Given the description of an element on the screen output the (x, y) to click on. 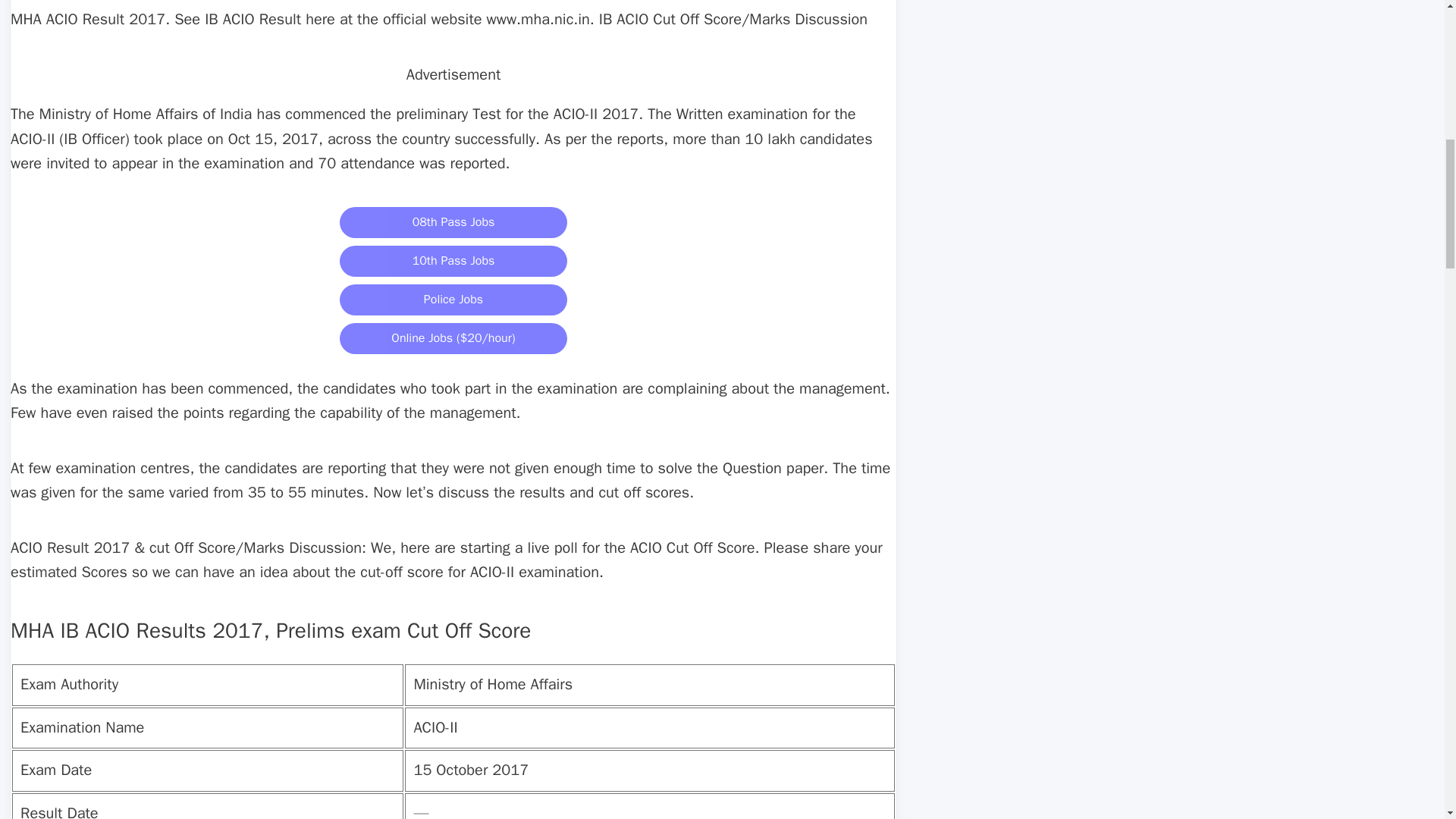
08th Pass Jobs (453, 222)
08th Pass Jobs (453, 220)
10th Pass Jobs (453, 259)
10th Pass Jobs (453, 260)
Police Jobs (453, 298)
Police Jobs (453, 299)
